Given the description of an element on the screen output the (x, y) to click on. 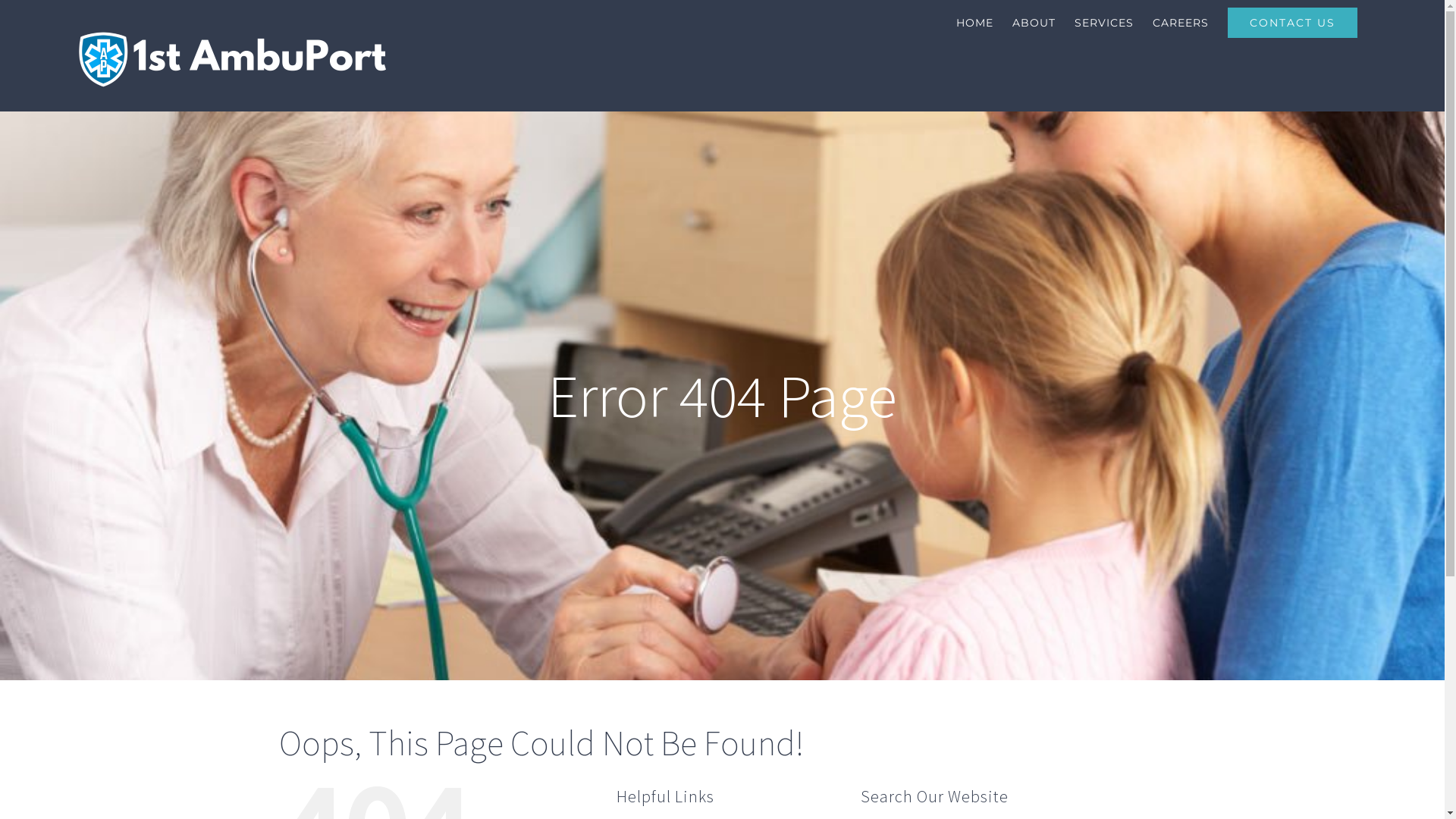
CAREERS Element type: text (1180, 22)
ABOUT Element type: text (1033, 22)
HOME Element type: text (974, 22)
CONTACT US Element type: text (1292, 22)
SERVICES Element type: text (1103, 22)
